Given the description of an element on the screen output the (x, y) to click on. 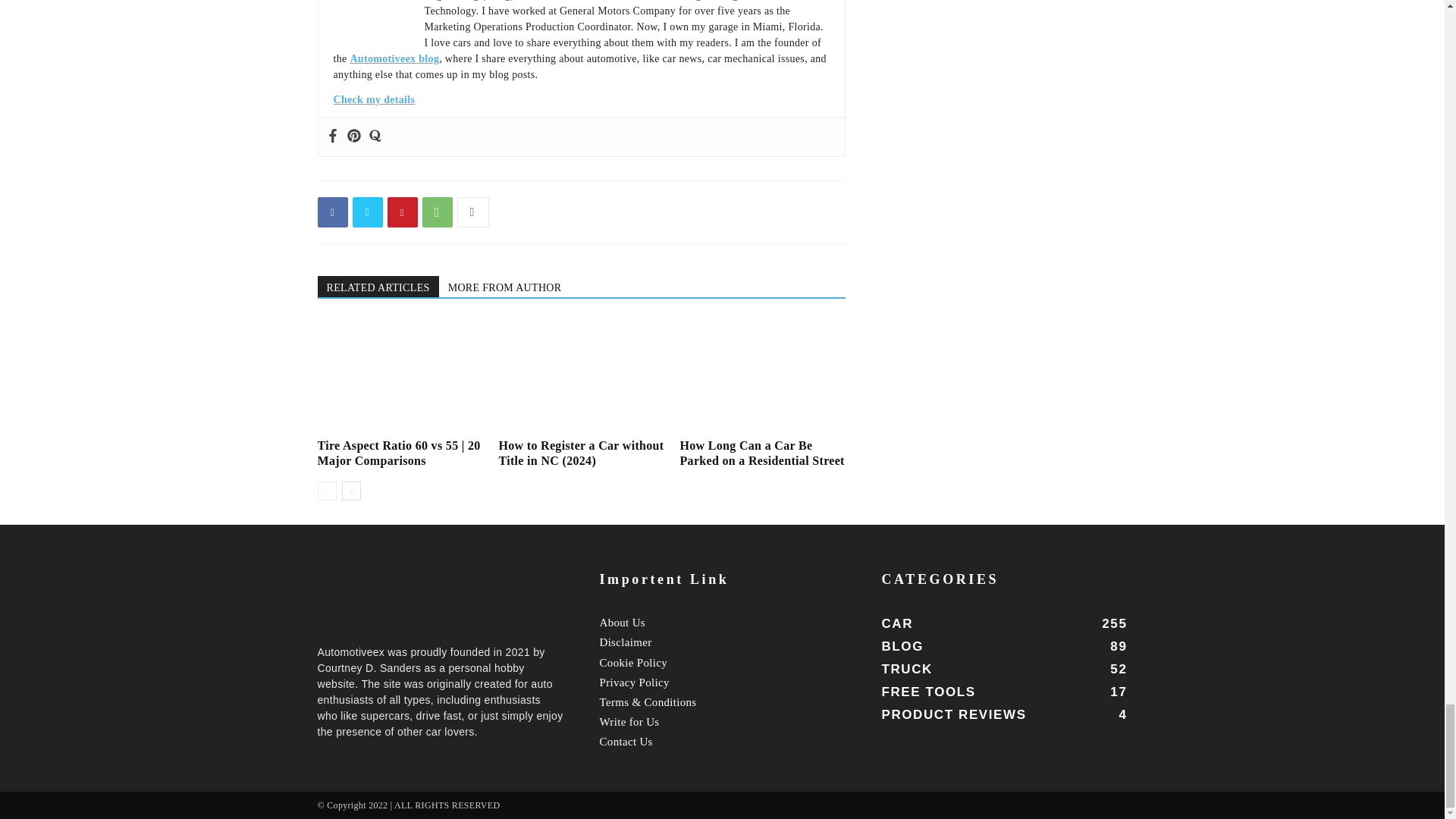
Check my details (373, 99)
WhatsApp (436, 212)
Twitter (366, 212)
Automotiveex blog (394, 58)
Facebook (332, 212)
RELATED ARTICLES (377, 286)
MORE FROM AUTHOR (504, 286)
More (472, 212)
Pinterest (401, 212)
